Given the description of an element on the screen output the (x, y) to click on. 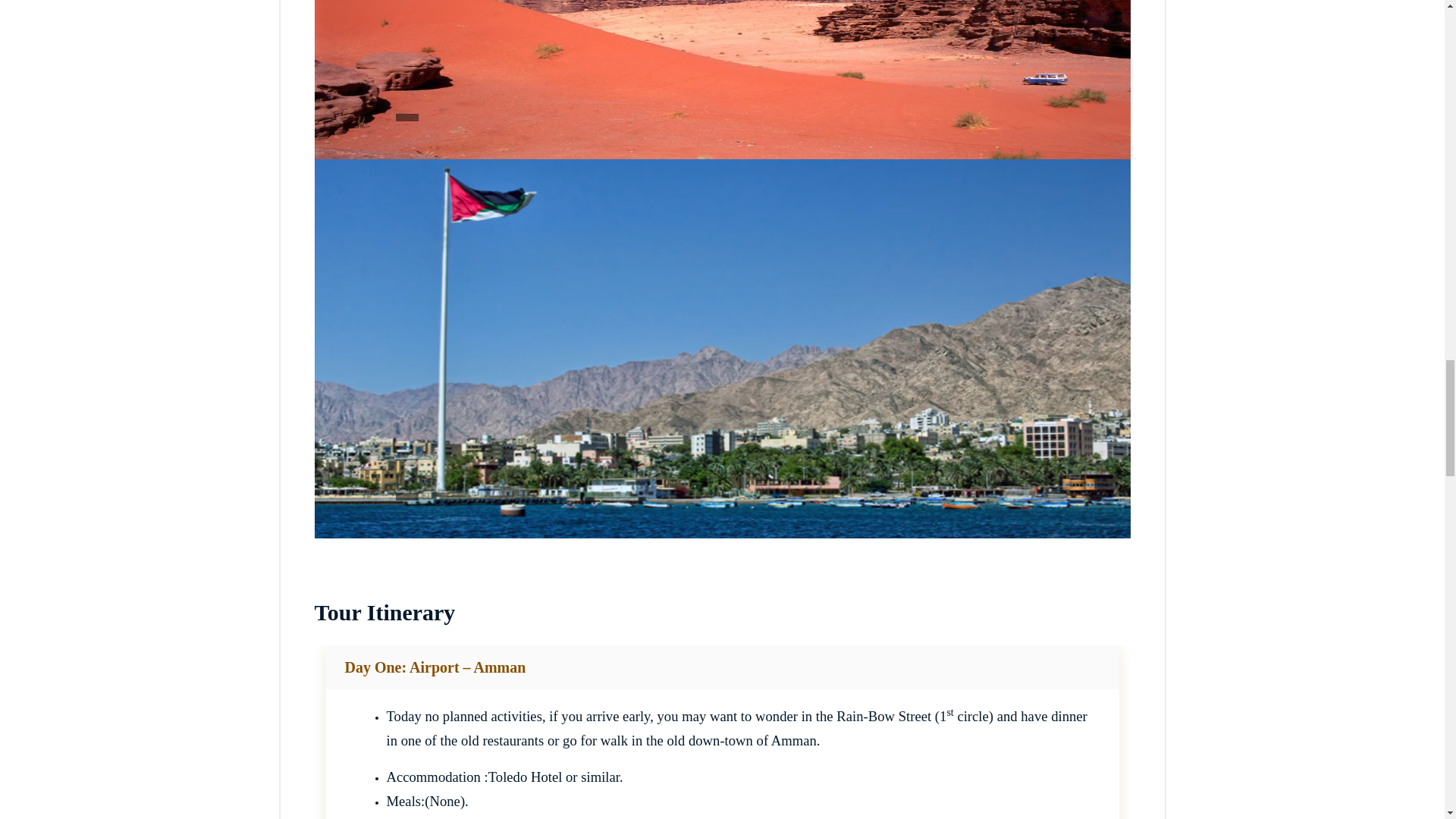
Jordan Medium Hikes (721, 79)
